Given the description of an element on the screen output the (x, y) to click on. 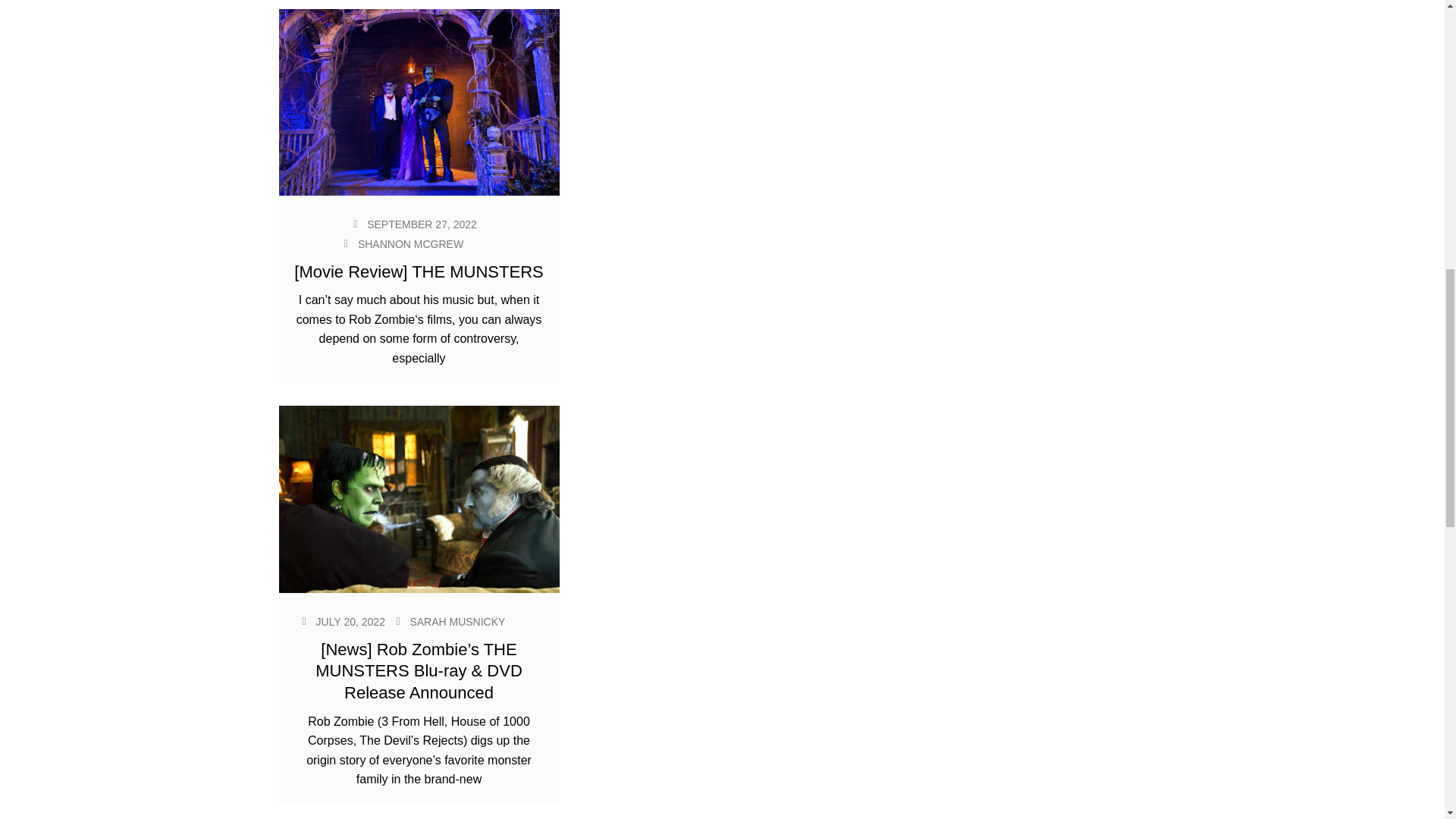
JULY 20, 2022 (350, 621)
SHANNON MCGREW (410, 244)
SEPTEMBER 27, 2022 (421, 224)
SARAH MUSNICKY (457, 621)
